Given the description of an element on the screen output the (x, y) to click on. 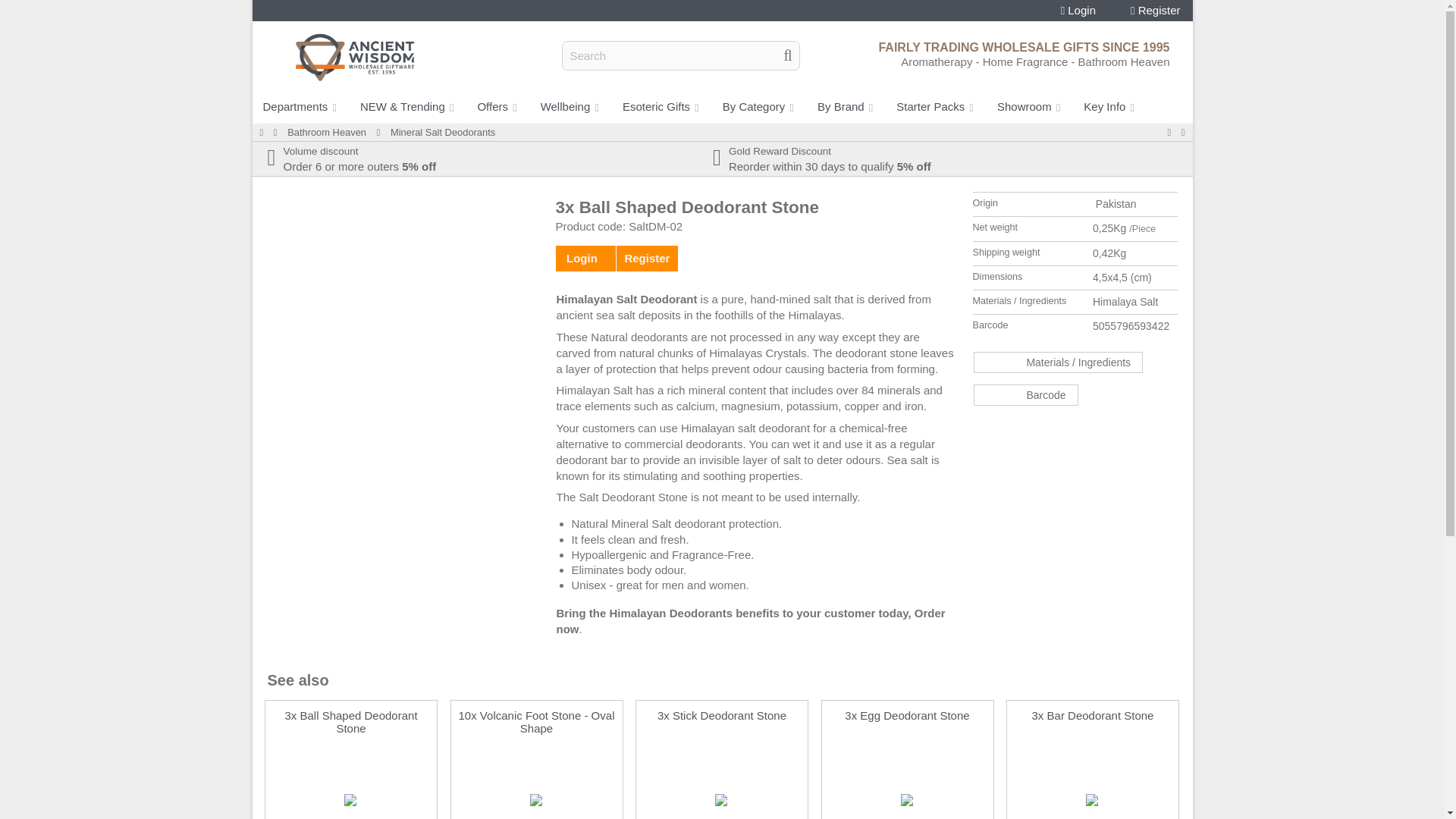
Esoteric Gifts (661, 106)
Register (1155, 10)
By Brand (845, 106)
Key Info (1110, 106)
Wholesale Bathroom Heaven - Ancient Wisdom Giftware Supplier (326, 132)
Wellbeing (570, 106)
Departments (300, 106)
Offers (497, 106)
